Given the description of an element on the screen output the (x, y) to click on. 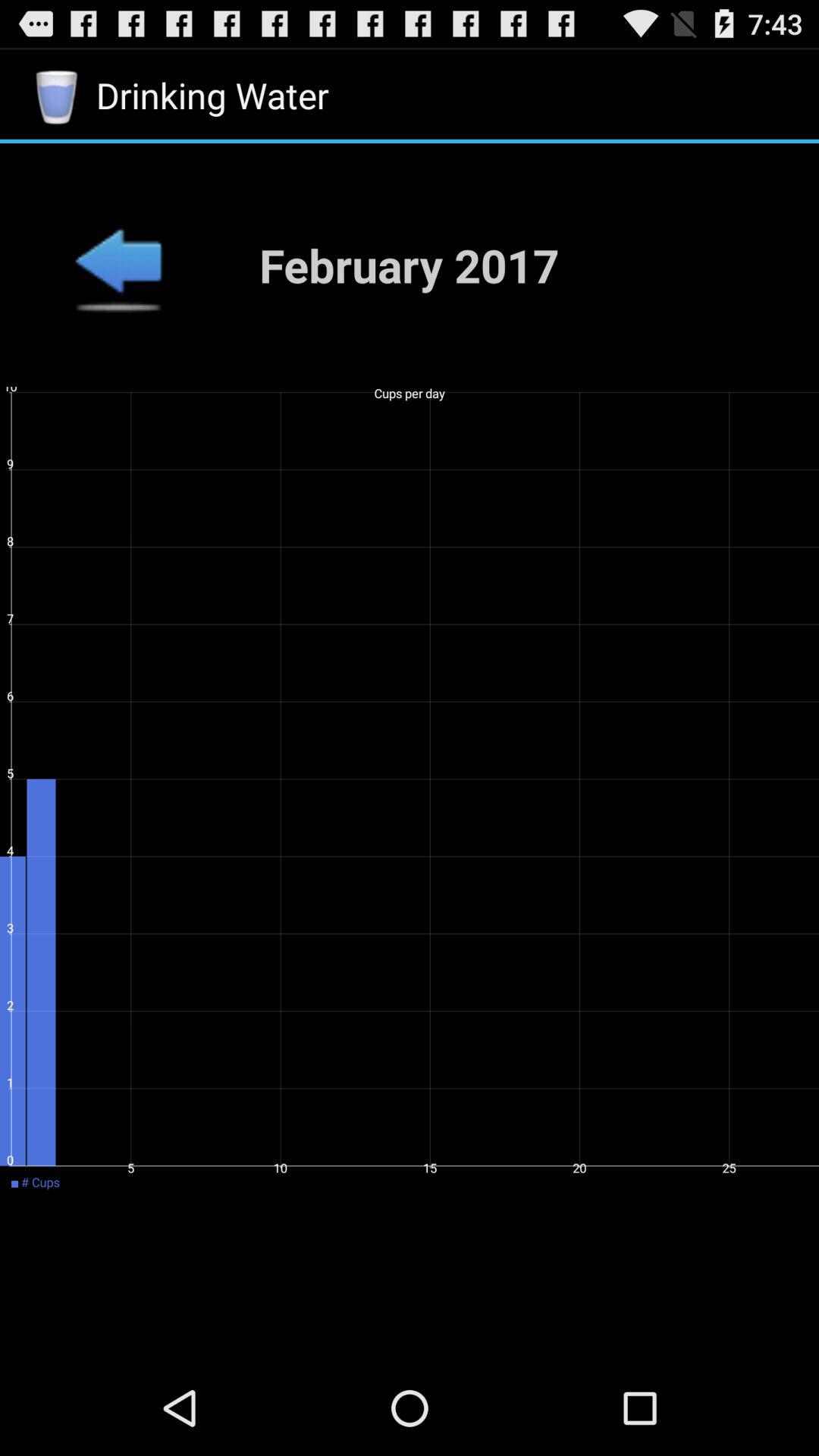
previous menu (118, 264)
